Given the description of an element on the screen output the (x, y) to click on. 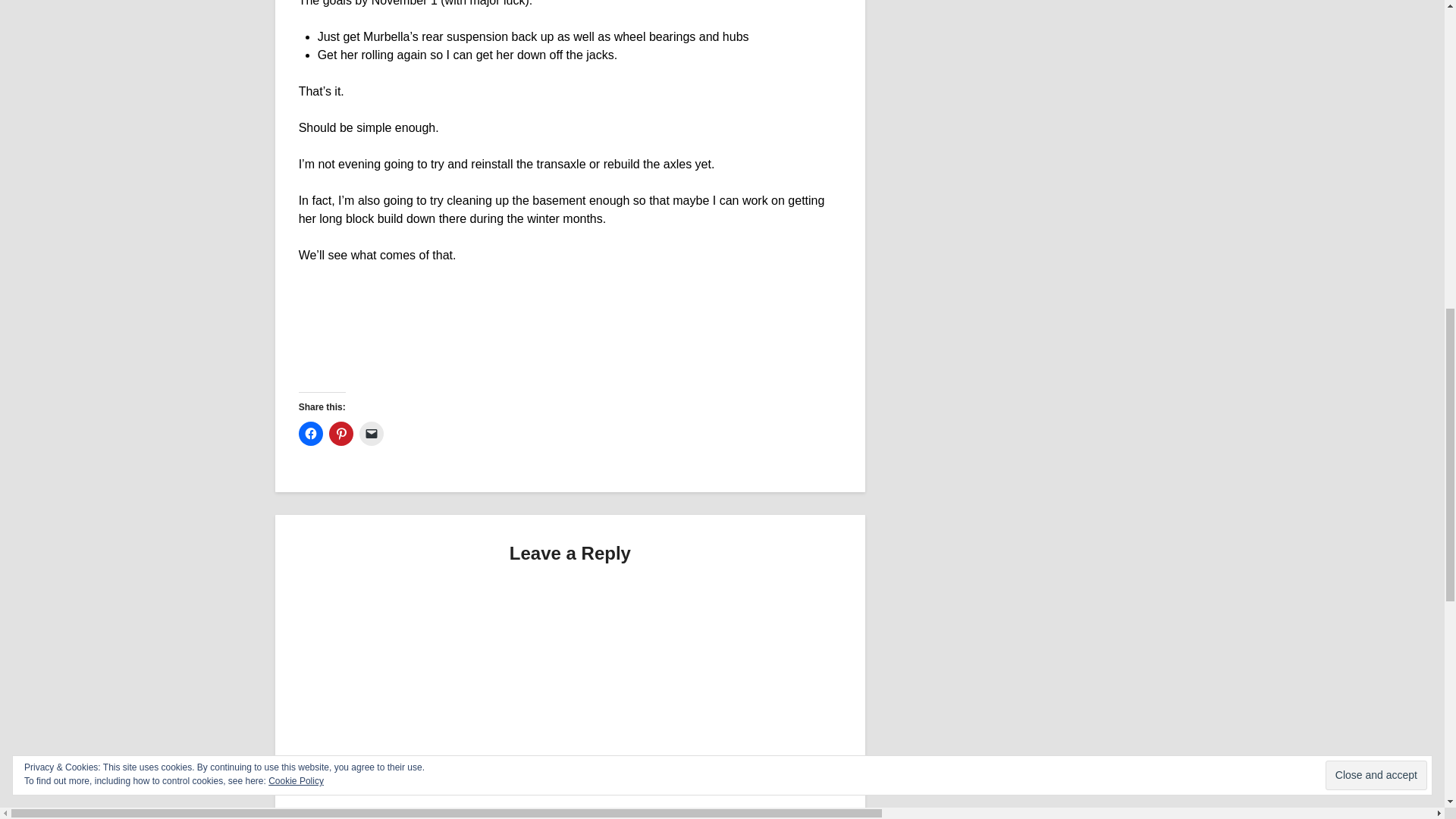
Click to share on Pinterest (341, 433)
Click to share on Facebook (310, 433)
Click to email a link to a friend (371, 433)
Comment Form (570, 697)
